Given the description of an element on the screen output the (x, y) to click on. 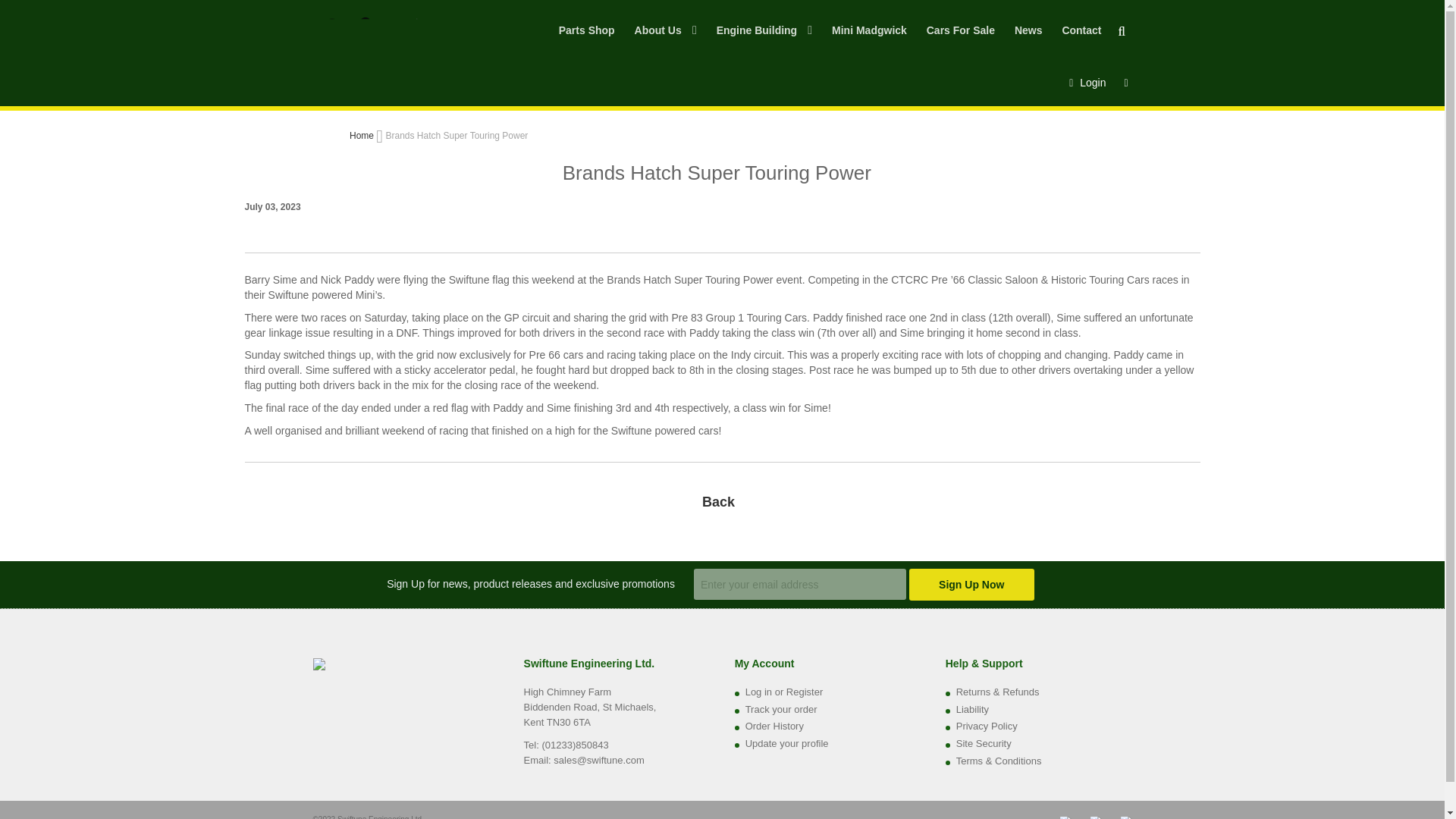
Sign Up Now (970, 584)
Go to Home Page (362, 135)
Account (1086, 82)
Log in or Register (784, 691)
Home (362, 135)
Sign Up Now (970, 584)
Engine Building (764, 42)
Parts Shop (586, 42)
About Us (665, 42)
Cars For Sale (960, 42)
